Given the description of an element on the screen output the (x, y) to click on. 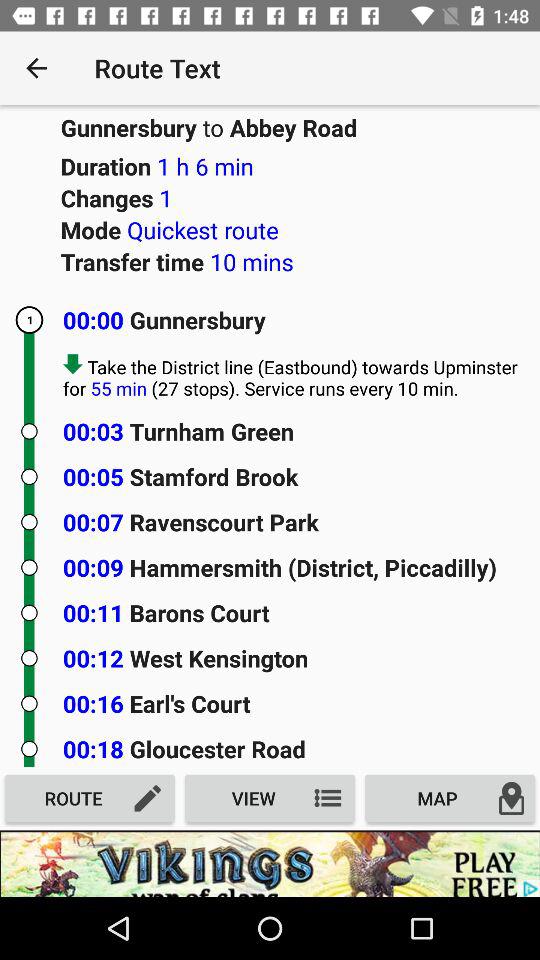
click on view (269, 798)
click on map on the right side of view (450, 798)
